Given the description of an element on the screen output the (x, y) to click on. 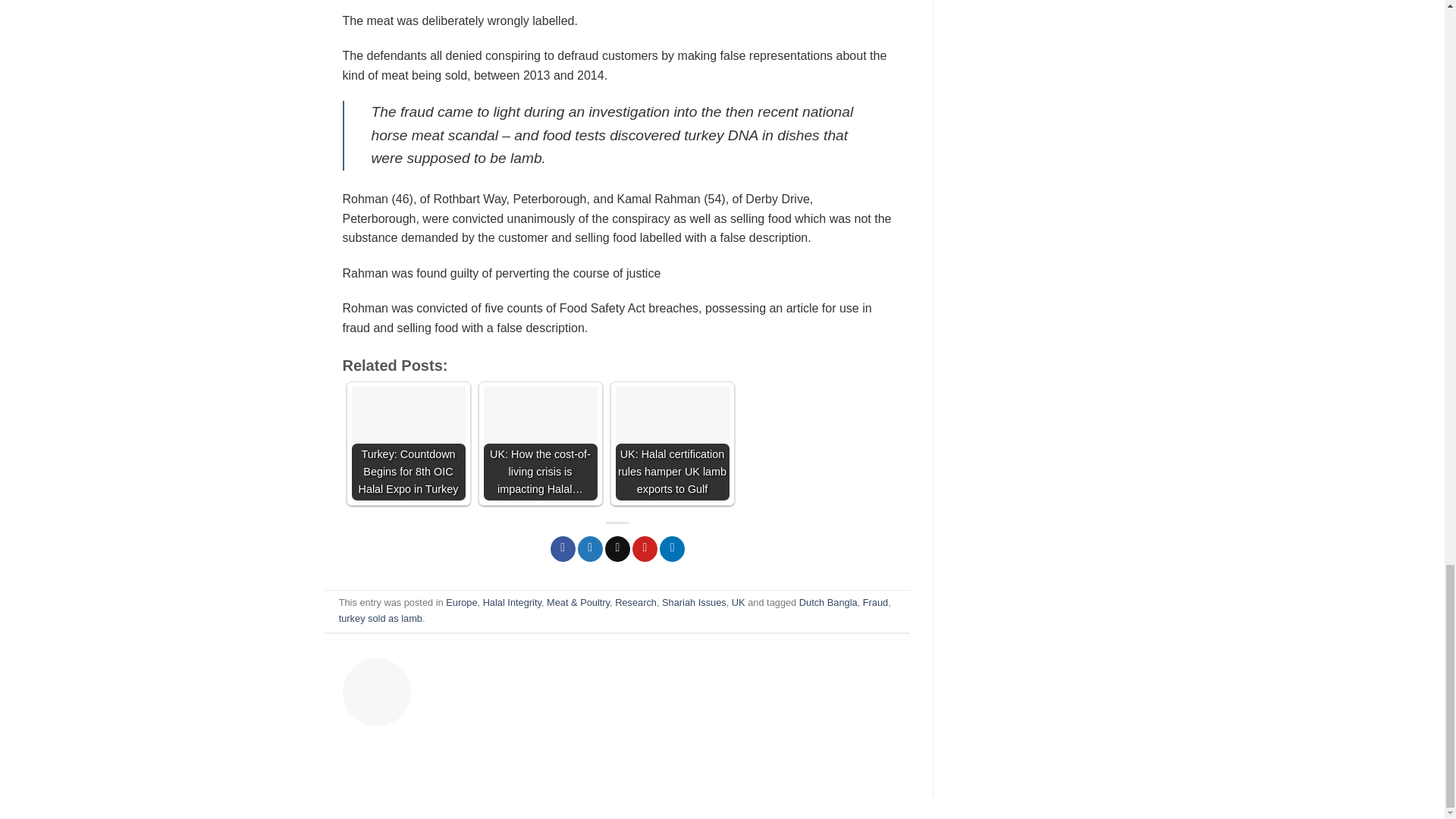
Email to a Friend (617, 548)
Pin on Pinterest (644, 548)
UK: Halal certification rules hamper UK lamb exports to Gulf (672, 443)
Share on Twitter (590, 548)
Turkey: Countdown Begins for 8th OIC Halal Expo in Turkey (408, 443)
Share on Facebook (562, 548)
